Given the description of an element on the screen output the (x, y) to click on. 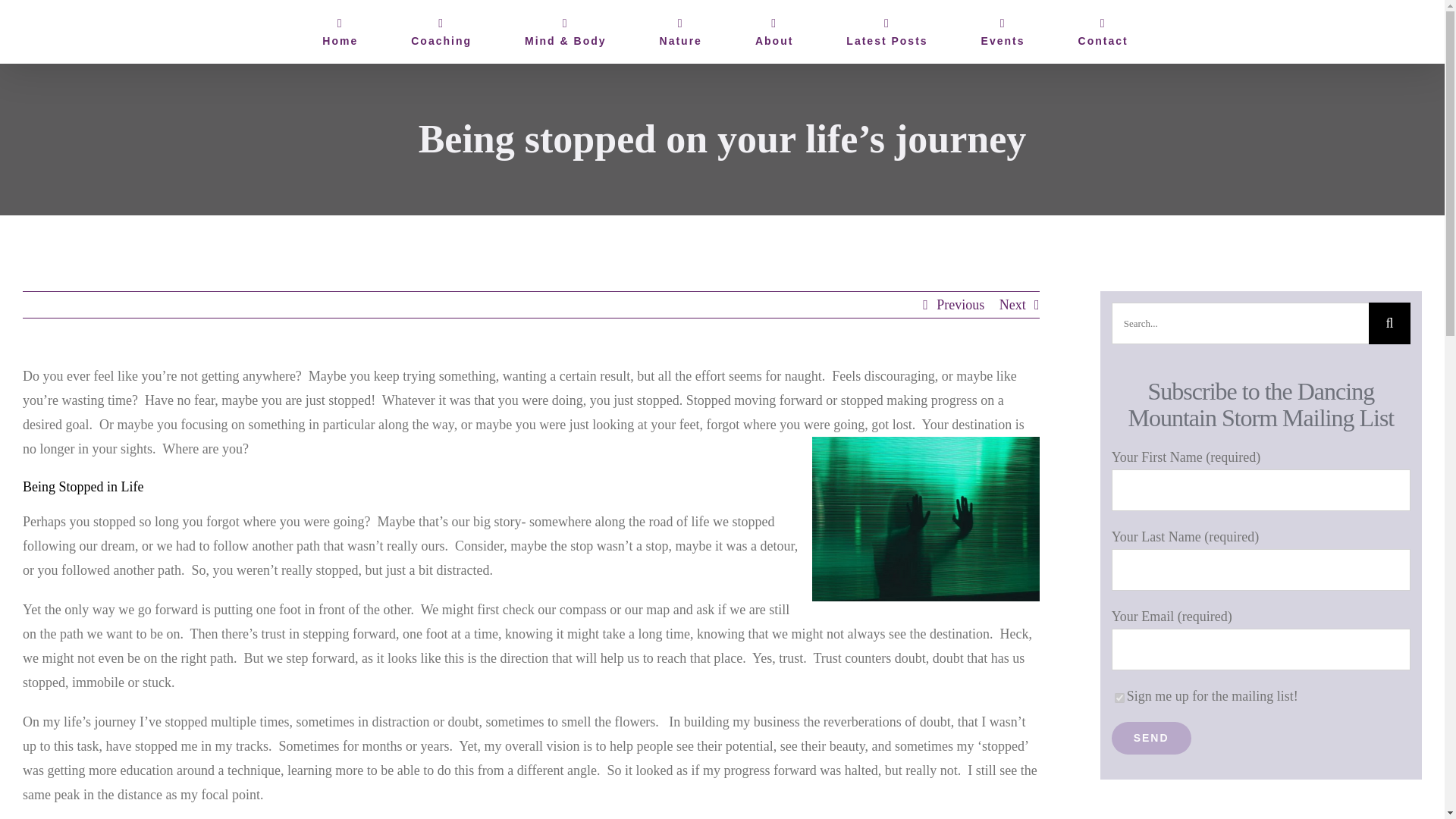
Latest Posts (886, 31)
1 (1119, 697)
Coaching (440, 31)
Next (1012, 304)
Previous (960, 304)
Send (1151, 737)
Send (1151, 737)
